Given the description of an element on the screen output the (x, y) to click on. 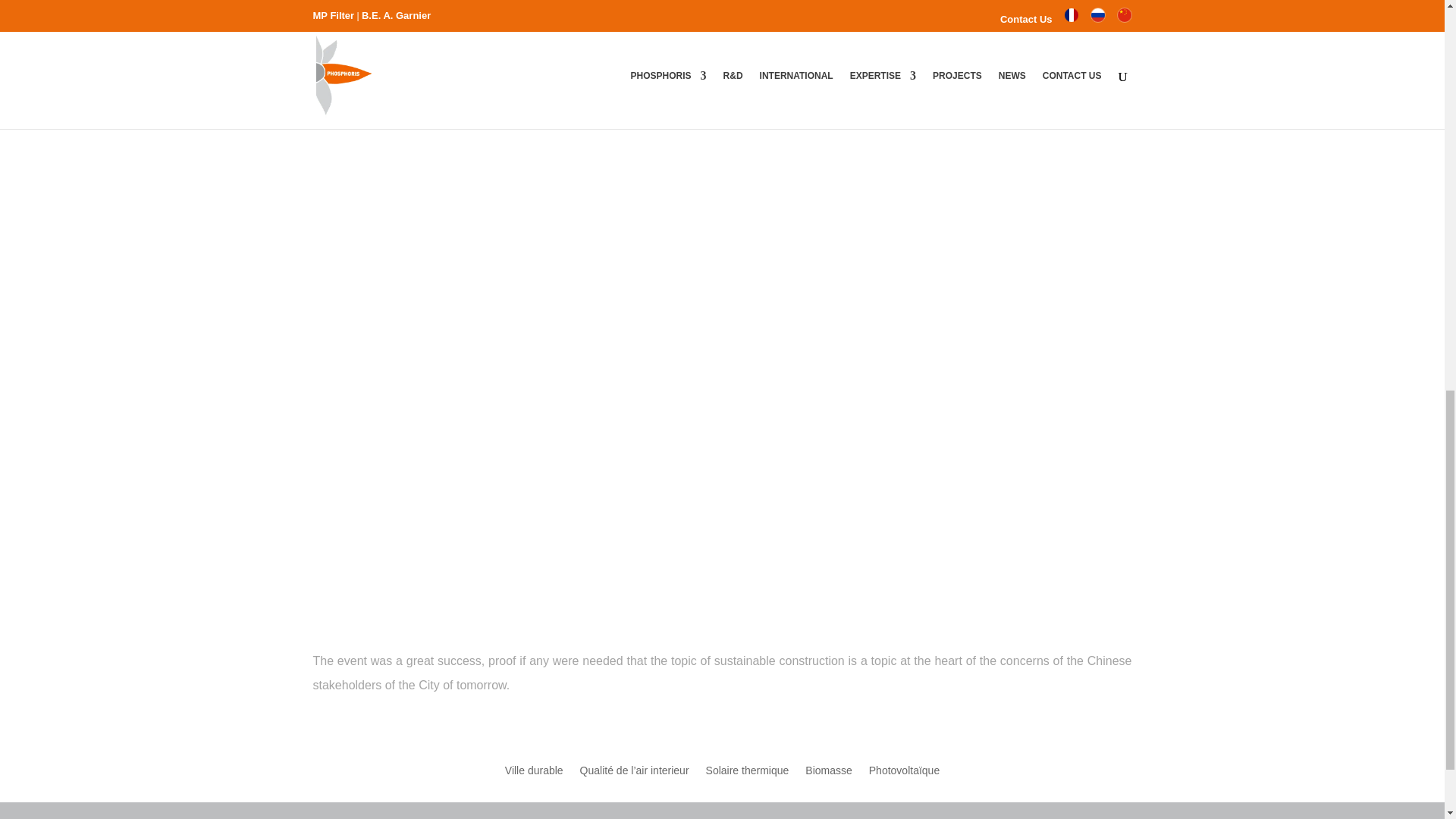
Solaire thermique (747, 773)
Biomasse (828, 773)
Ville durable (534, 773)
